Given the description of an element on the screen output the (x, y) to click on. 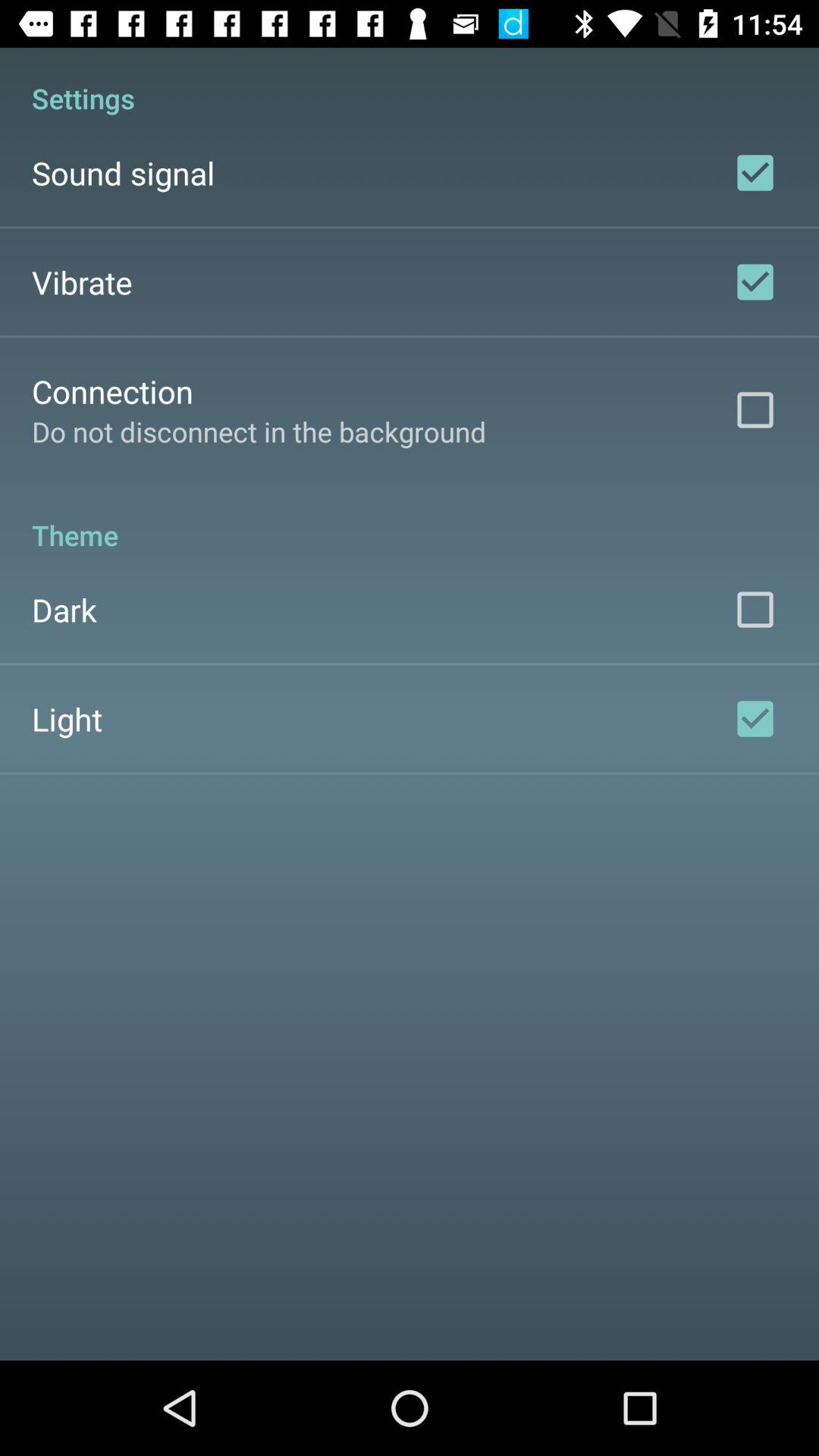
flip to do not disconnect (258, 431)
